Given the description of an element on the screen output the (x, y) to click on. 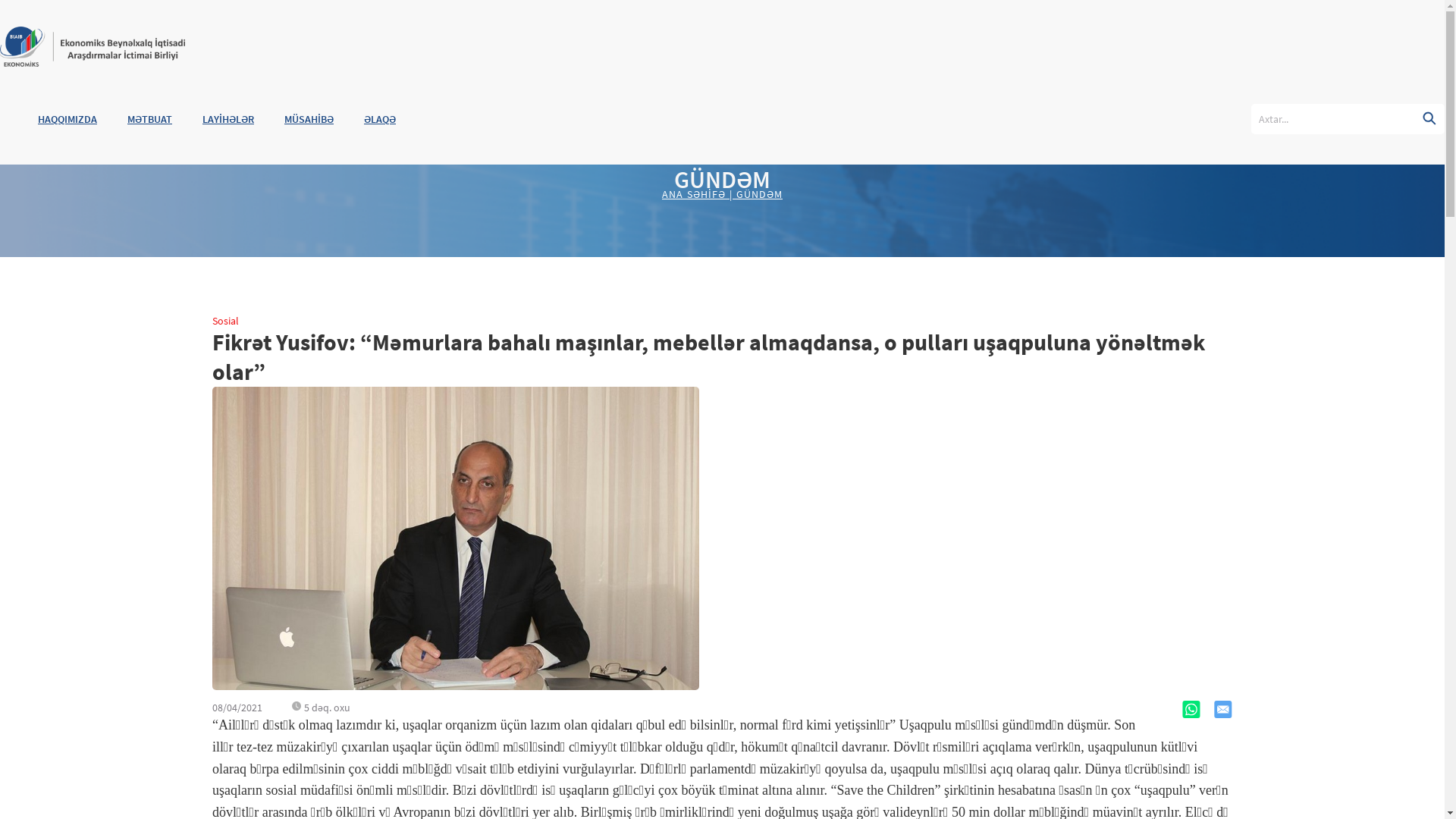
HAQQIMIZDA Element type: text (52, 118)
